Given the description of an element on the screen output the (x, y) to click on. 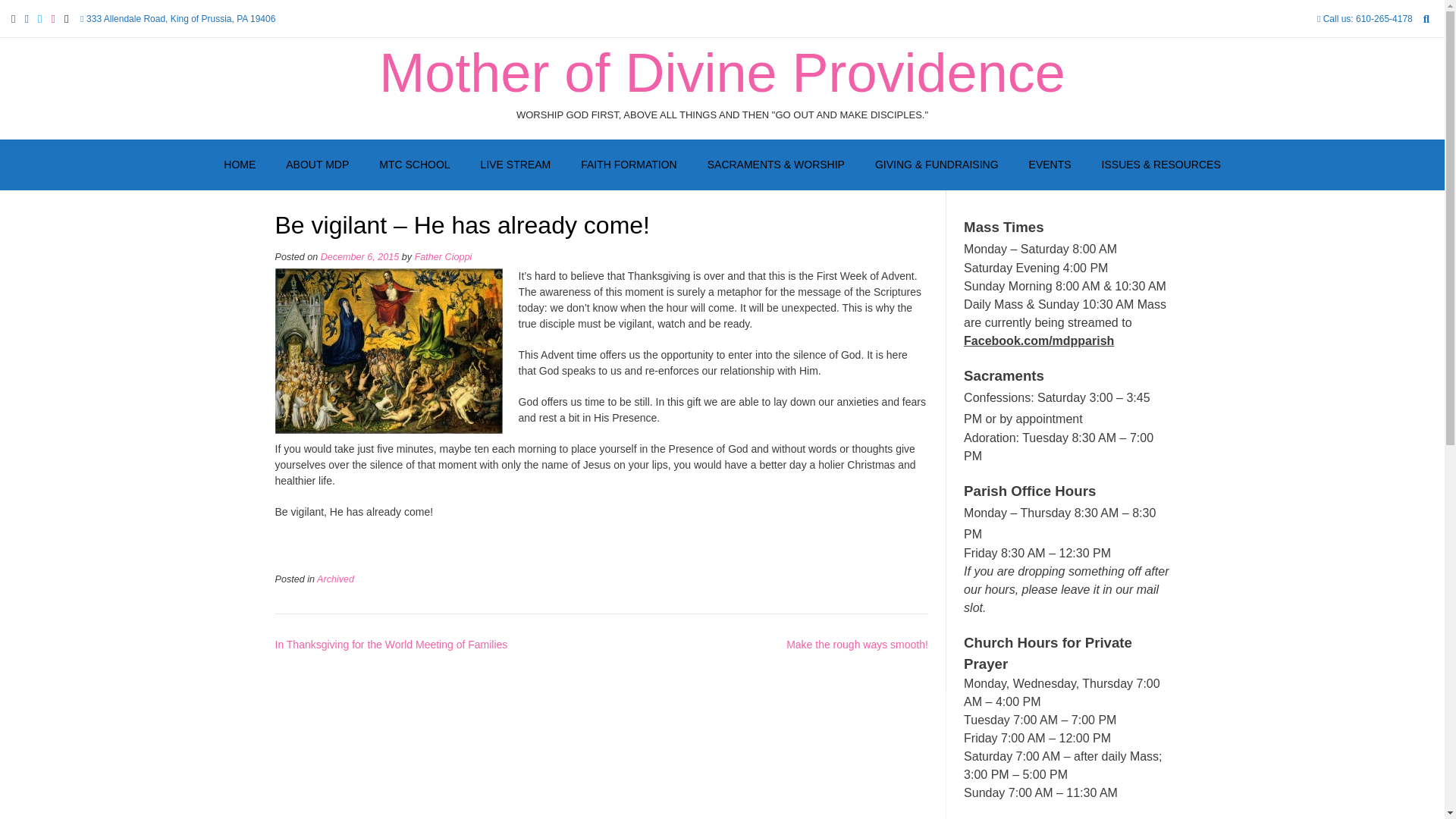
Mother of Divine Providence (721, 72)
LIVE STREAM (515, 165)
ABOUT MDP (317, 165)
HOME (239, 165)
MTC SCHOOL (414, 165)
Mother of Divine Providence (721, 72)
FAITH FORMATION (629, 165)
